Given the description of an element on the screen output the (x, y) to click on. 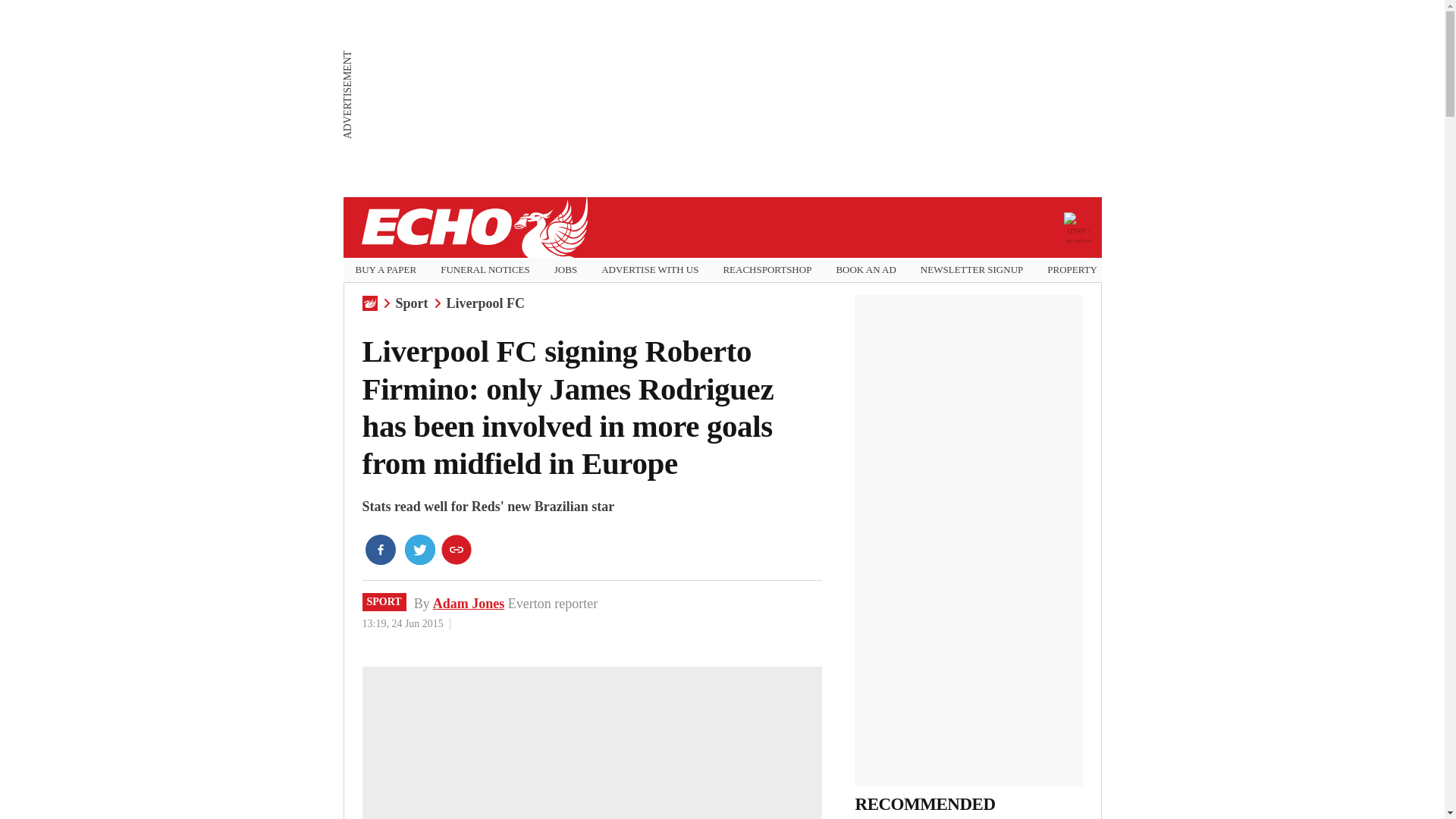
Go to the Liverpool Echo homepage (473, 227)
BUY A PAPER (385, 270)
JOBS (565, 270)
BOOK AN AD (865, 270)
SPORT (384, 601)
NEWSLETTER SIGNUP (971, 270)
PROPERTY (1071, 270)
avatar (1077, 227)
FUNERAL NOTICES (485, 270)
copy link (456, 549)
